Given the description of an element on the screen output the (x, y) to click on. 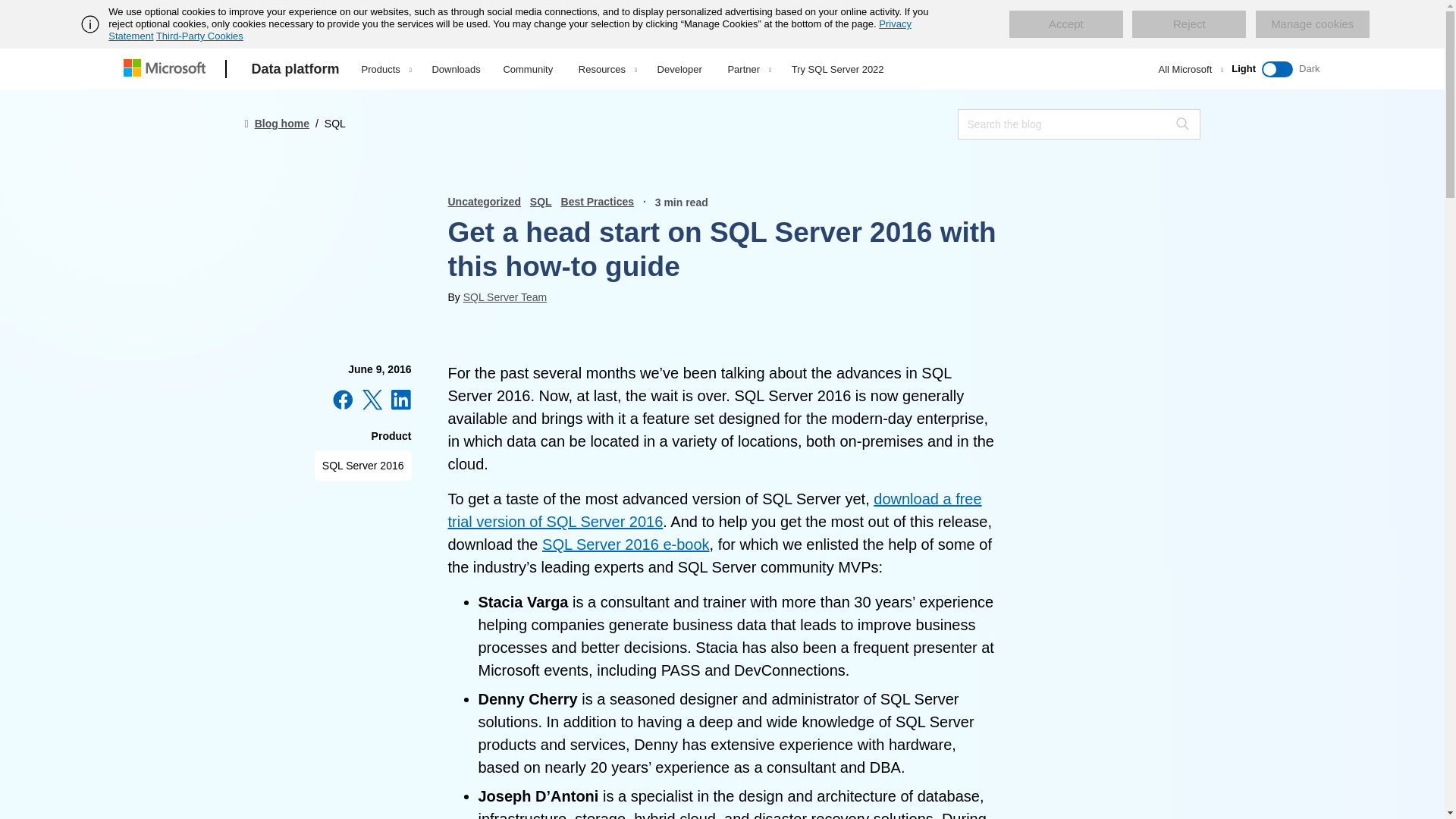
Third-Party Cookies (199, 35)
Microsoft (167, 69)
Reject (1189, 23)
Data platform (295, 69)
Community (527, 67)
Downloads (455, 67)
Manage cookies (1312, 23)
Privacy Statement (509, 29)
Products (386, 69)
Resources (607, 69)
